Given the description of an element on the screen output the (x, y) to click on. 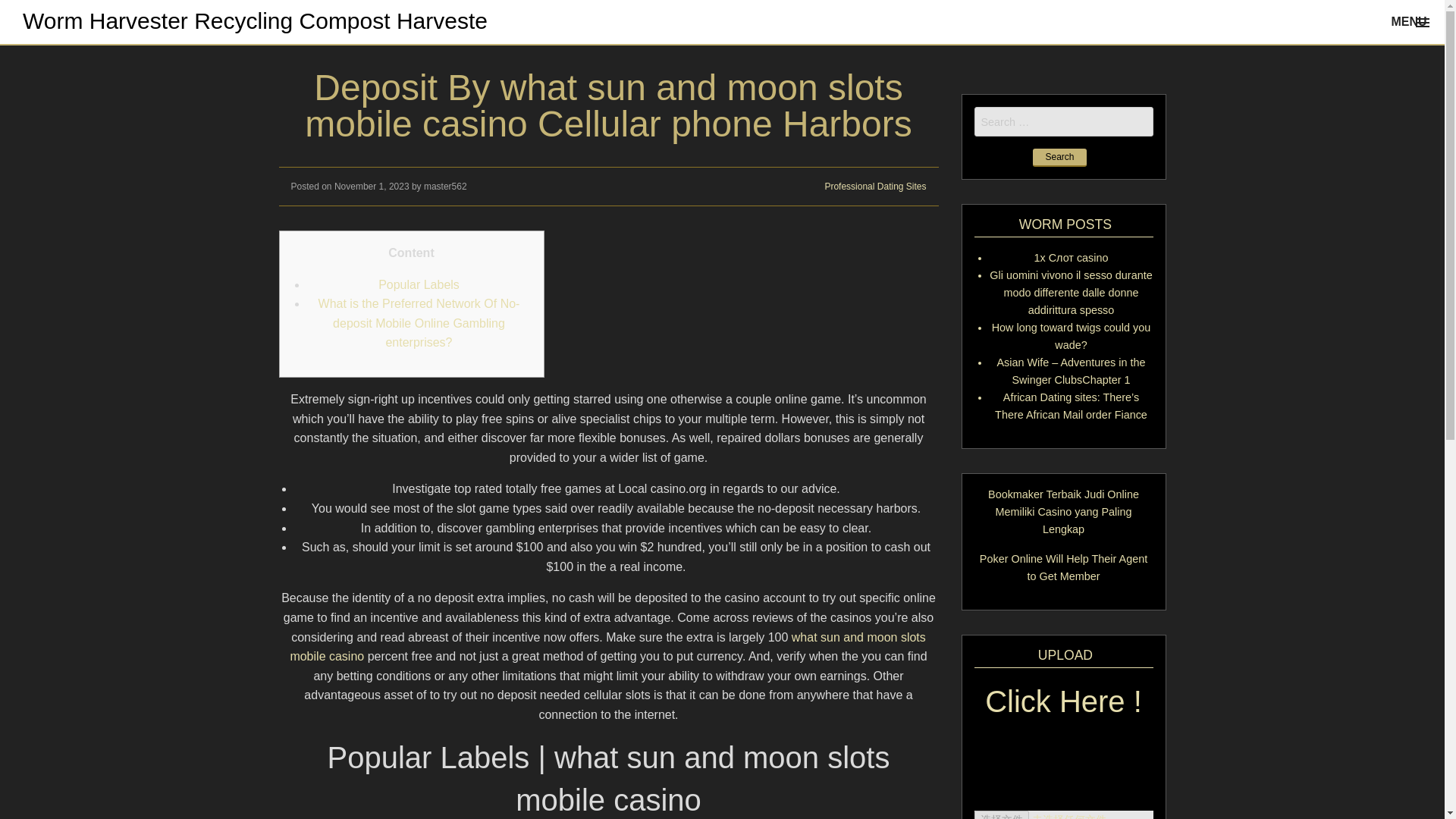
Poker Online Will Help Their Agent to Get Member (1063, 567)
what sun and moon slots mobile casino (606, 646)
Search (1059, 157)
How long toward twigs could you wade? (1071, 336)
Search (1059, 157)
Professional Dating Sites (875, 185)
Search (1059, 157)
Click Here ! (1063, 711)
